Given the description of an element on the screen output the (x, y) to click on. 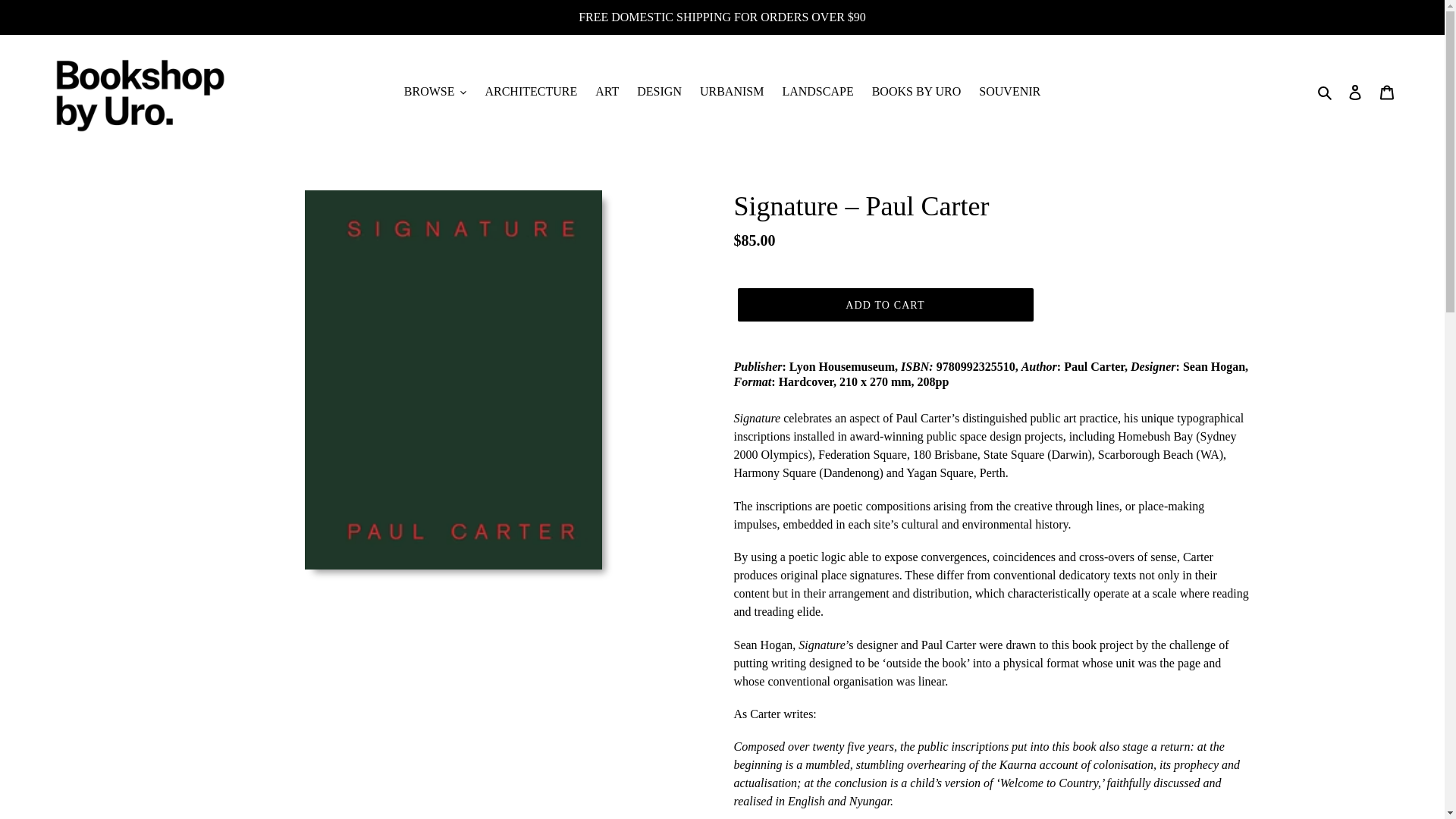
Search (1326, 91)
DESIGN (658, 91)
BROWSE (435, 91)
Cart (1387, 91)
URBANISM (732, 91)
ART (607, 91)
SOUVENIR (1009, 91)
LANDSCAPE (817, 91)
ARCHITECTURE (531, 91)
Log in (1355, 91)
